Given the description of an element on the screen output the (x, y) to click on. 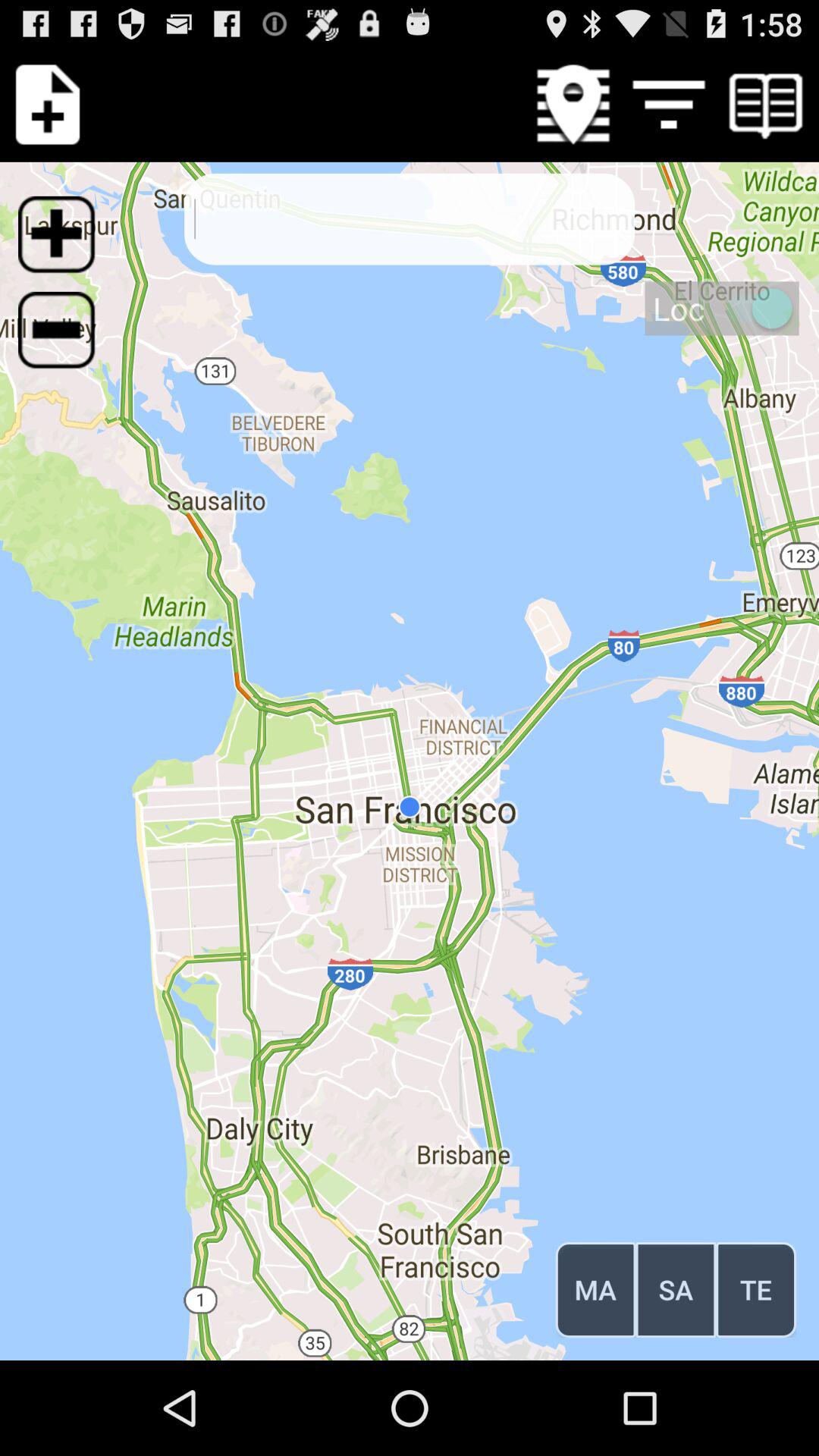
turn off the button to the left of te button (675, 1289)
